Given the description of an element on the screen output the (x, y) to click on. 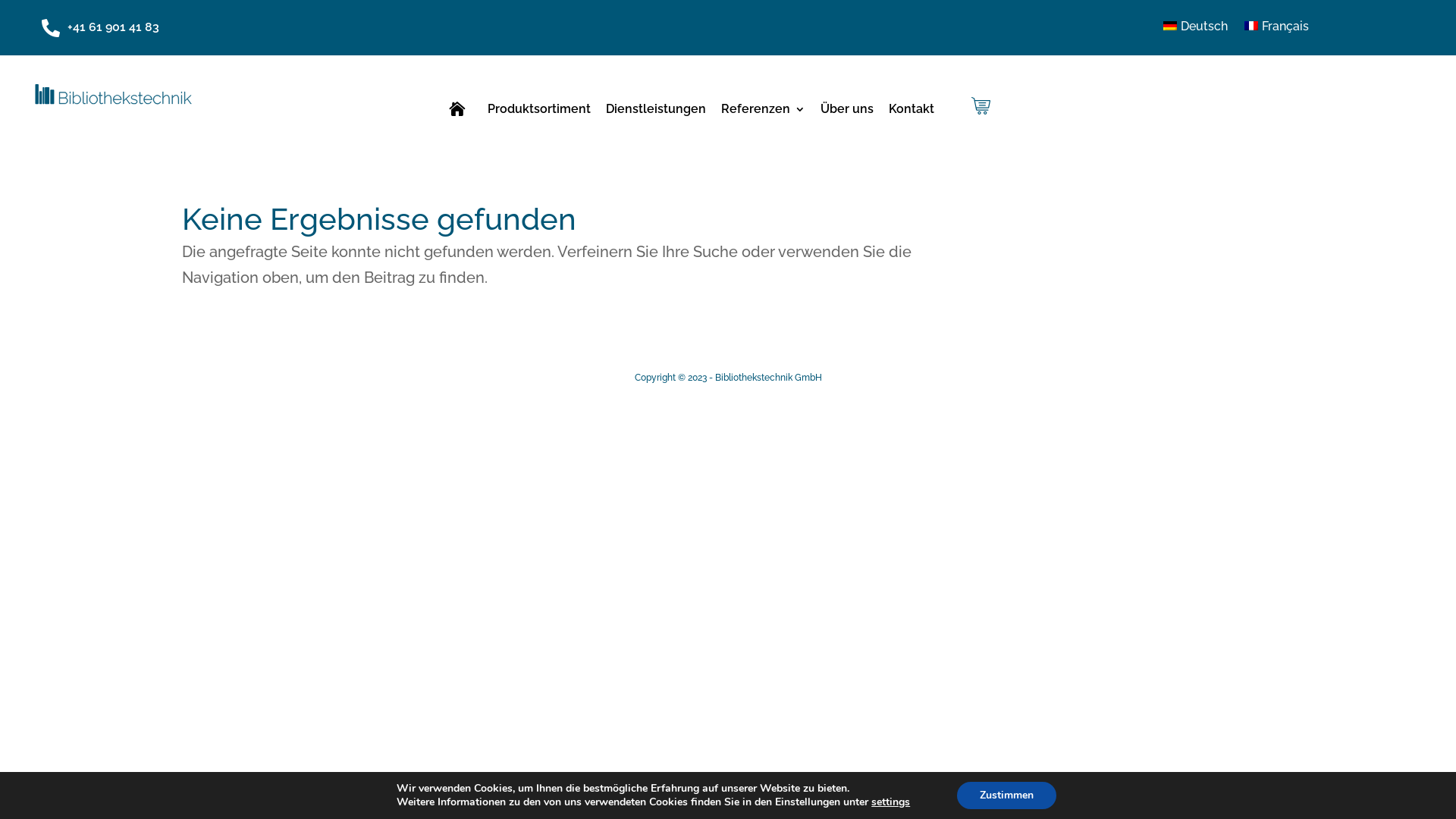
Kontakt Element type: text (911, 111)
Deutsch Element type: text (1195, 29)
Logo_Bibliothekstechnik_2 Element type: hover (104, 94)
Referenzen Element type: text (763, 111)
Zustimmen Element type: text (1006, 795)
settings Element type: text (890, 802)
Produktsortiment Element type: text (538, 111)
Dienstleistungen Element type: text (655, 111)
